Given the description of an element on the screen output the (x, y) to click on. 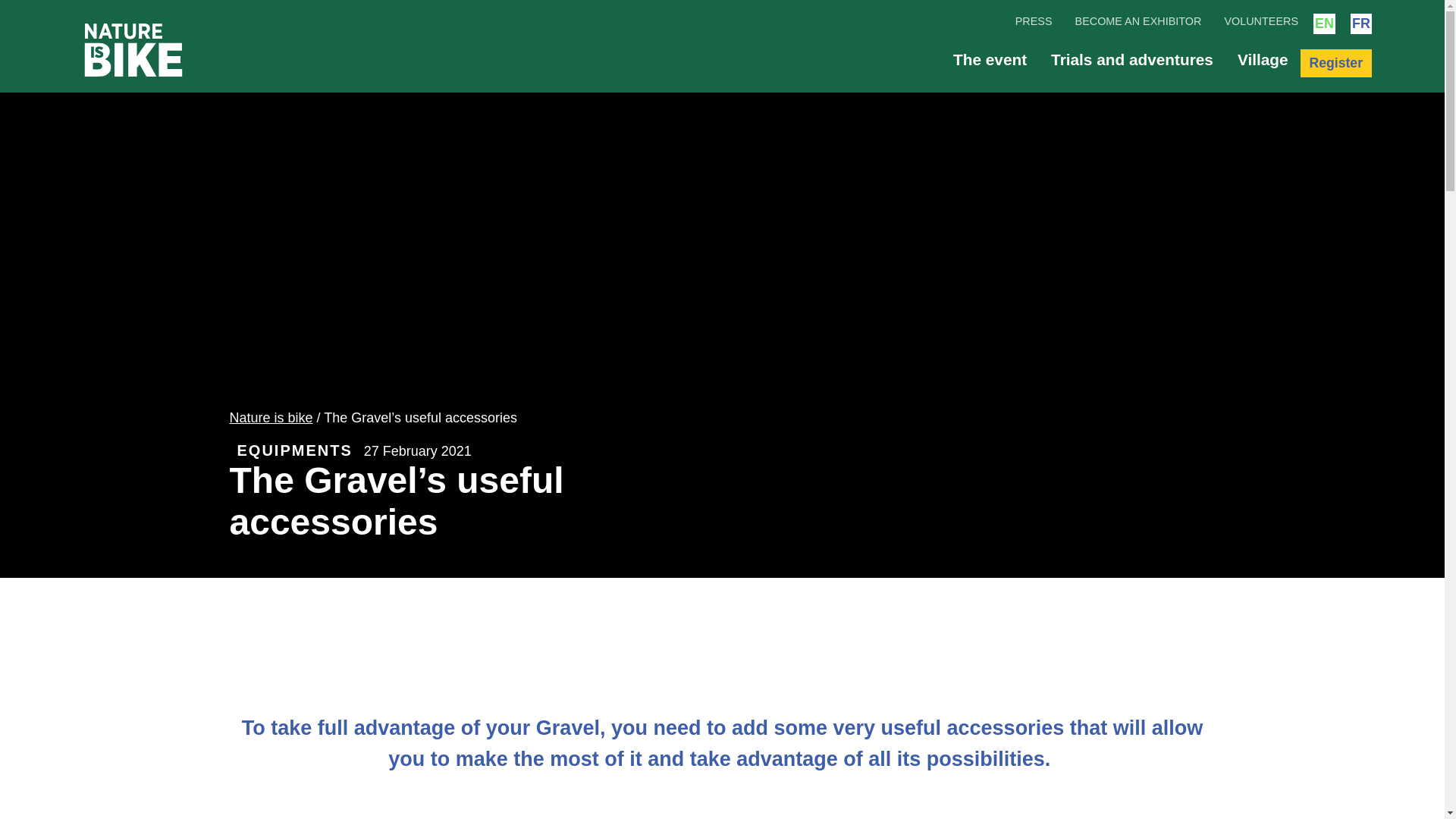
EQUIPMENTS (293, 450)
PRESS (1033, 21)
EN (1323, 23)
The event (989, 59)
BECOME AN EXHIBITOR (1138, 21)
Trials and adventures (1131, 59)
Register (1335, 62)
Nature is bike (270, 417)
VOLUNTEERS (1261, 21)
FR (1361, 23)
